Given the description of an element on the screen output the (x, y) to click on. 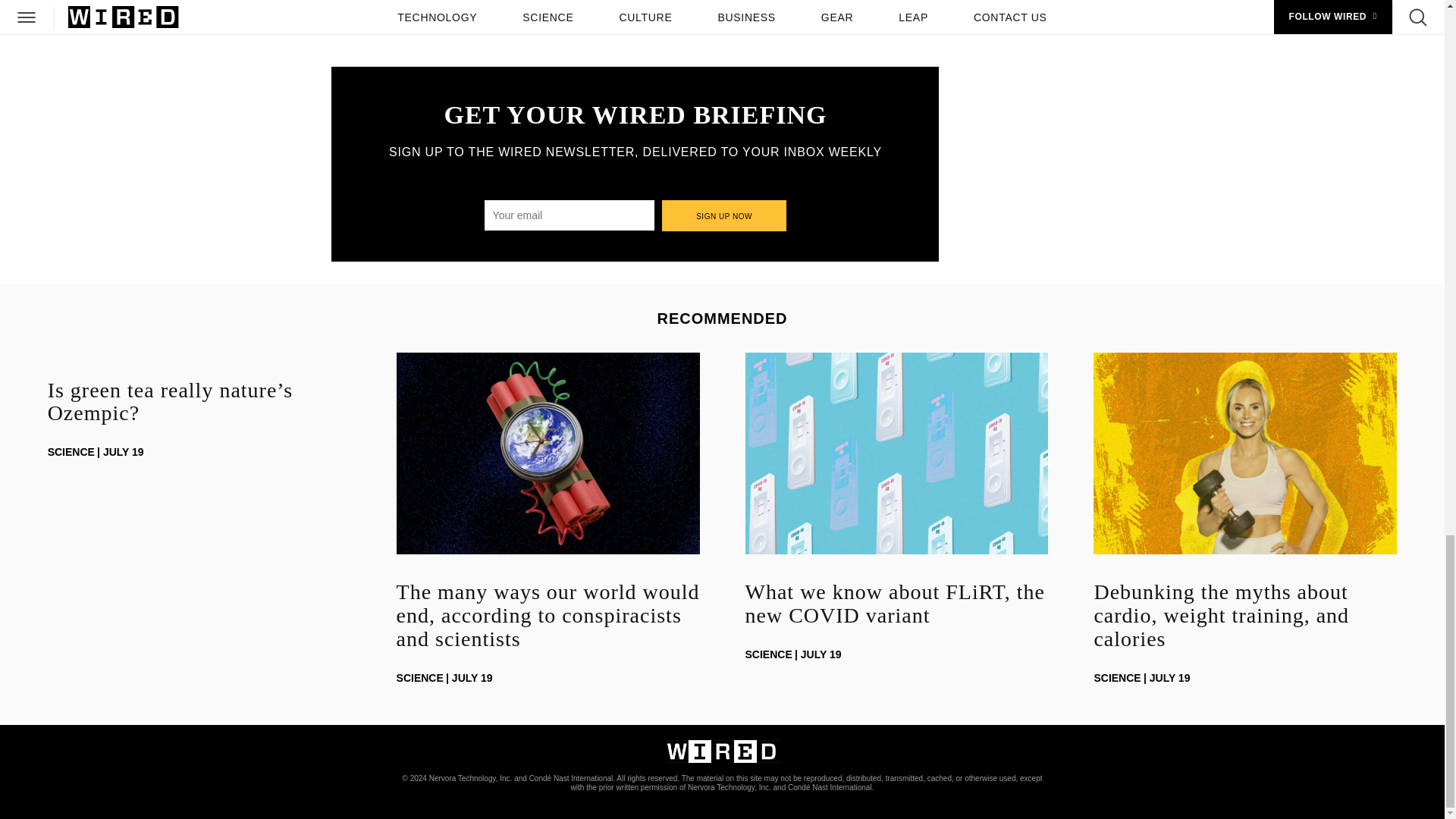
Sign up now (724, 214)
